Given the description of an element on the screen output the (x, y) to click on. 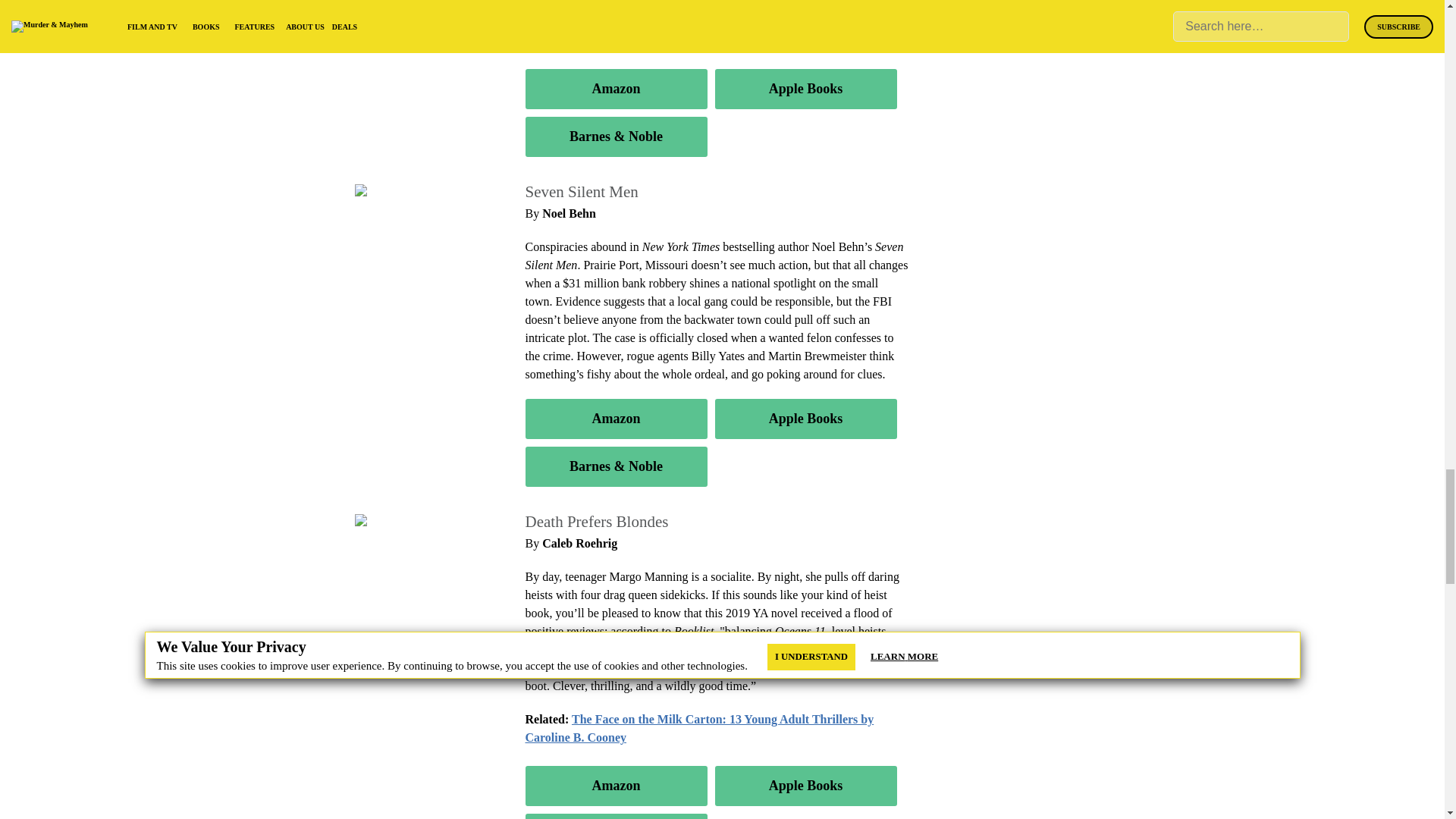
Seven-Silent-Men (403, 191)
